Given the description of an element on the screen output the (x, y) to click on. 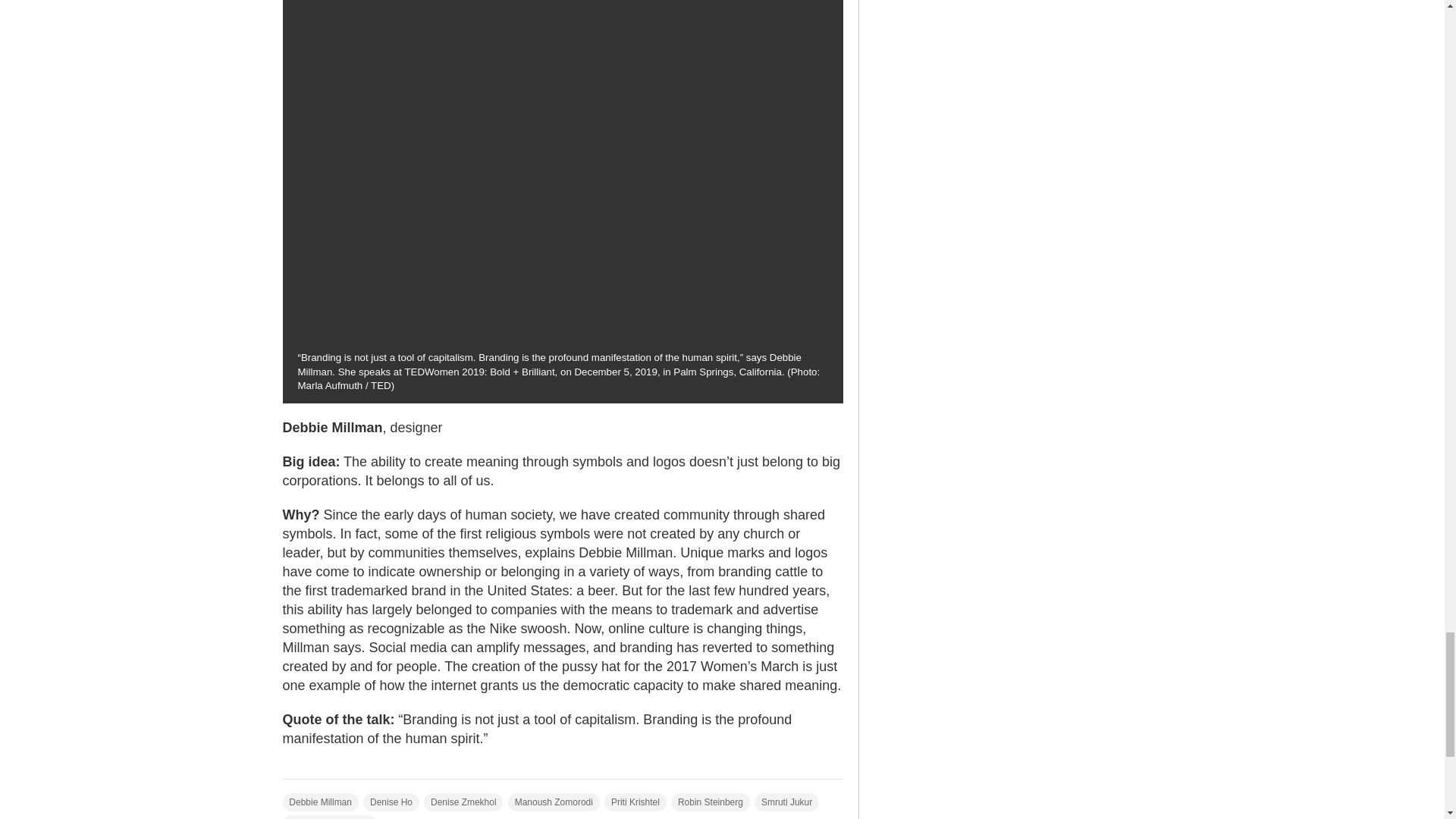
Debbie Millman (320, 802)
Priti Krishtel (635, 802)
Denise Zmekhol (462, 802)
Yvonne Aki-Sawyerr (329, 816)
Smruti Jukur (786, 802)
Denise Ho (390, 802)
Robin Steinberg (710, 802)
Manoush Zomorodi (553, 802)
